Given the description of an element on the screen output the (x, y) to click on. 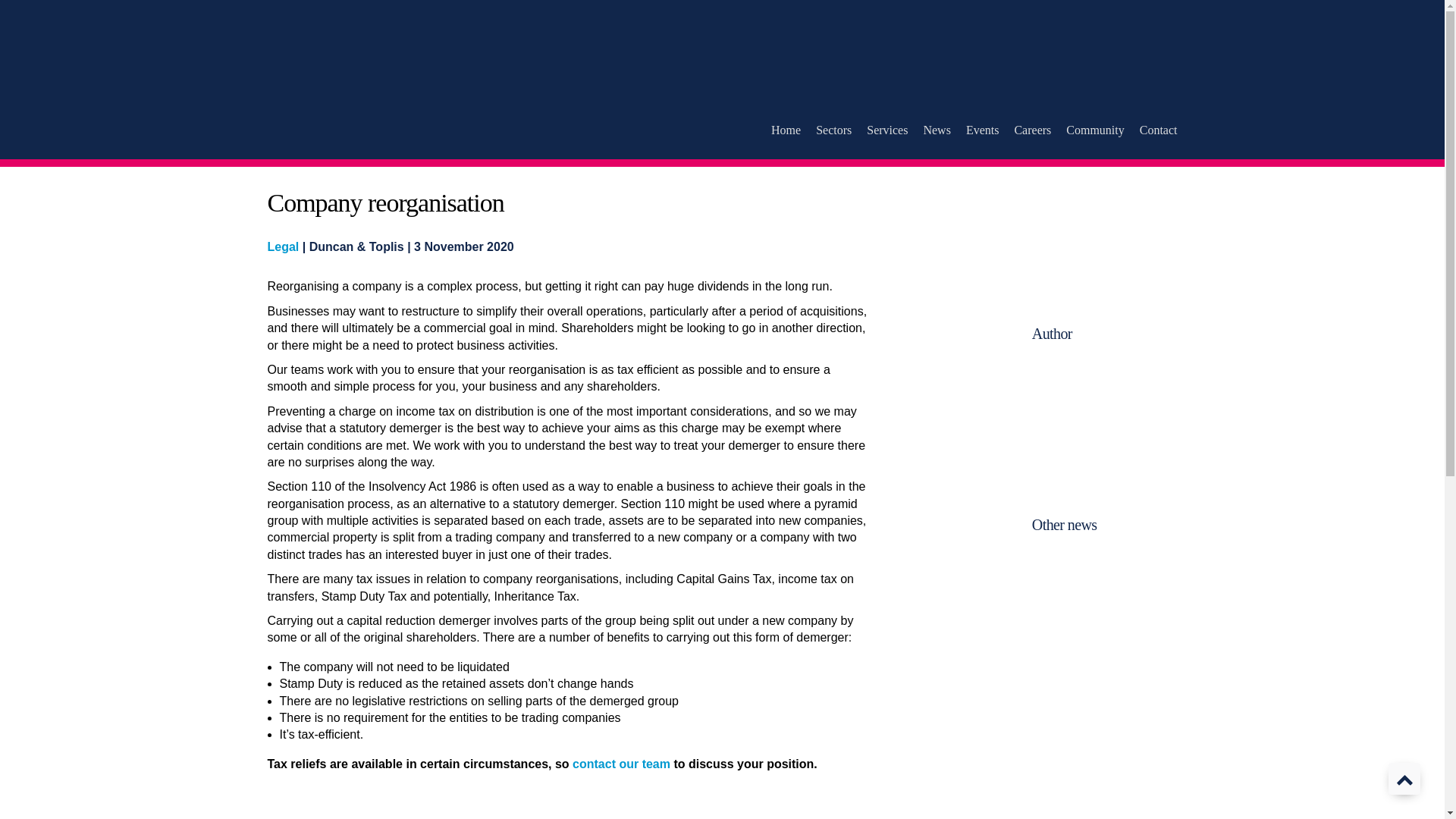
Careers (1032, 130)
Home (785, 130)
News (936, 130)
Services (886, 130)
Events (982, 130)
Sectors (833, 130)
